Given the description of an element on the screen output the (x, y) to click on. 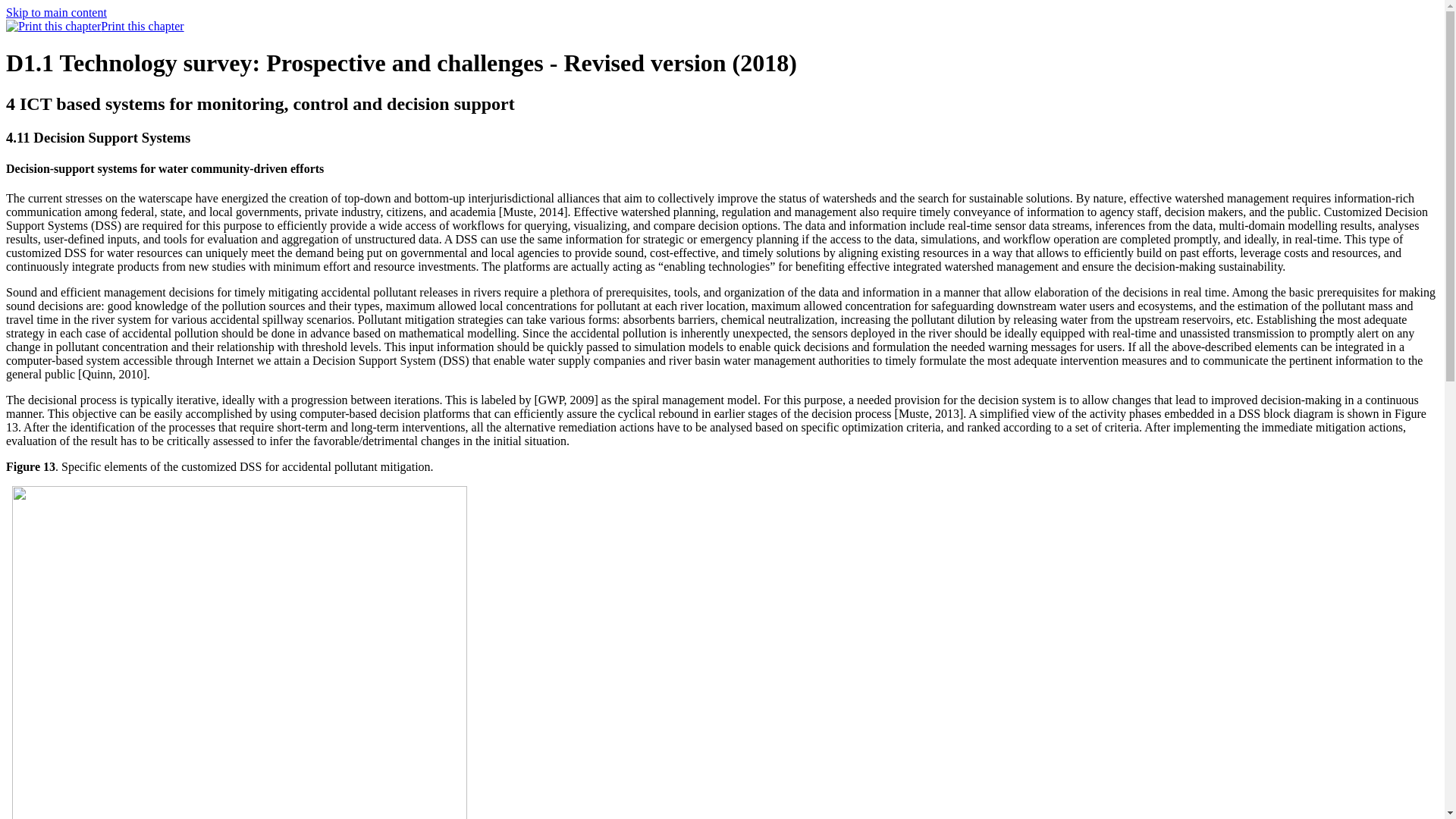
Print this chapter (94, 25)
Print this chapter (52, 26)
Skip to main content (55, 11)
